Given the description of an element on the screen output the (x, y) to click on. 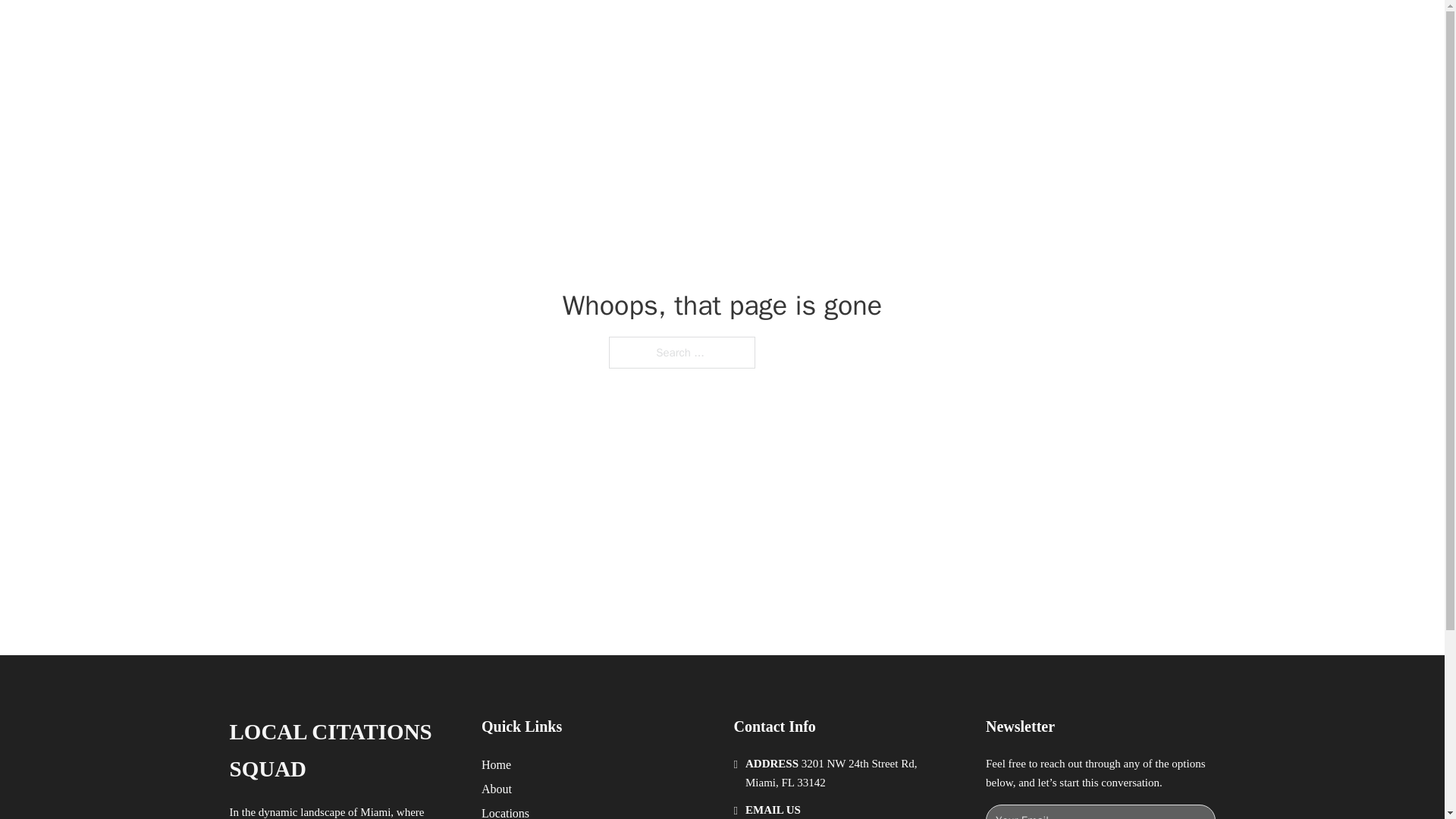
LOCAL CITATIONS SQUAD (343, 750)
LOCAL CITATION SQUAD (428, 28)
Home (496, 764)
HOME (907, 29)
LOCATIONS (978, 29)
Locations (505, 811)
About (496, 788)
